Given the description of an element on the screen output the (x, y) to click on. 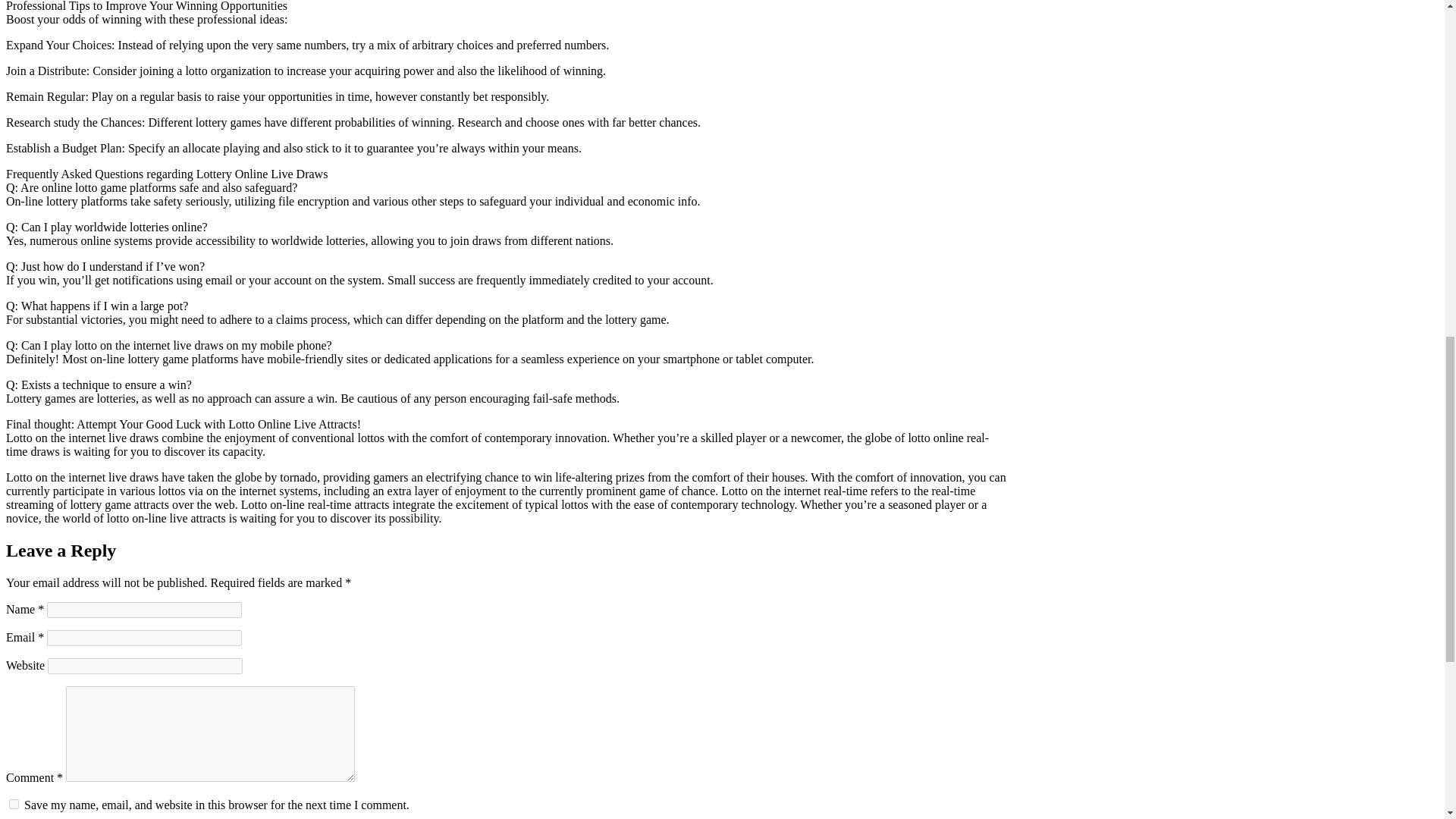
yes (13, 804)
